Given the description of an element on the screen output the (x, y) to click on. 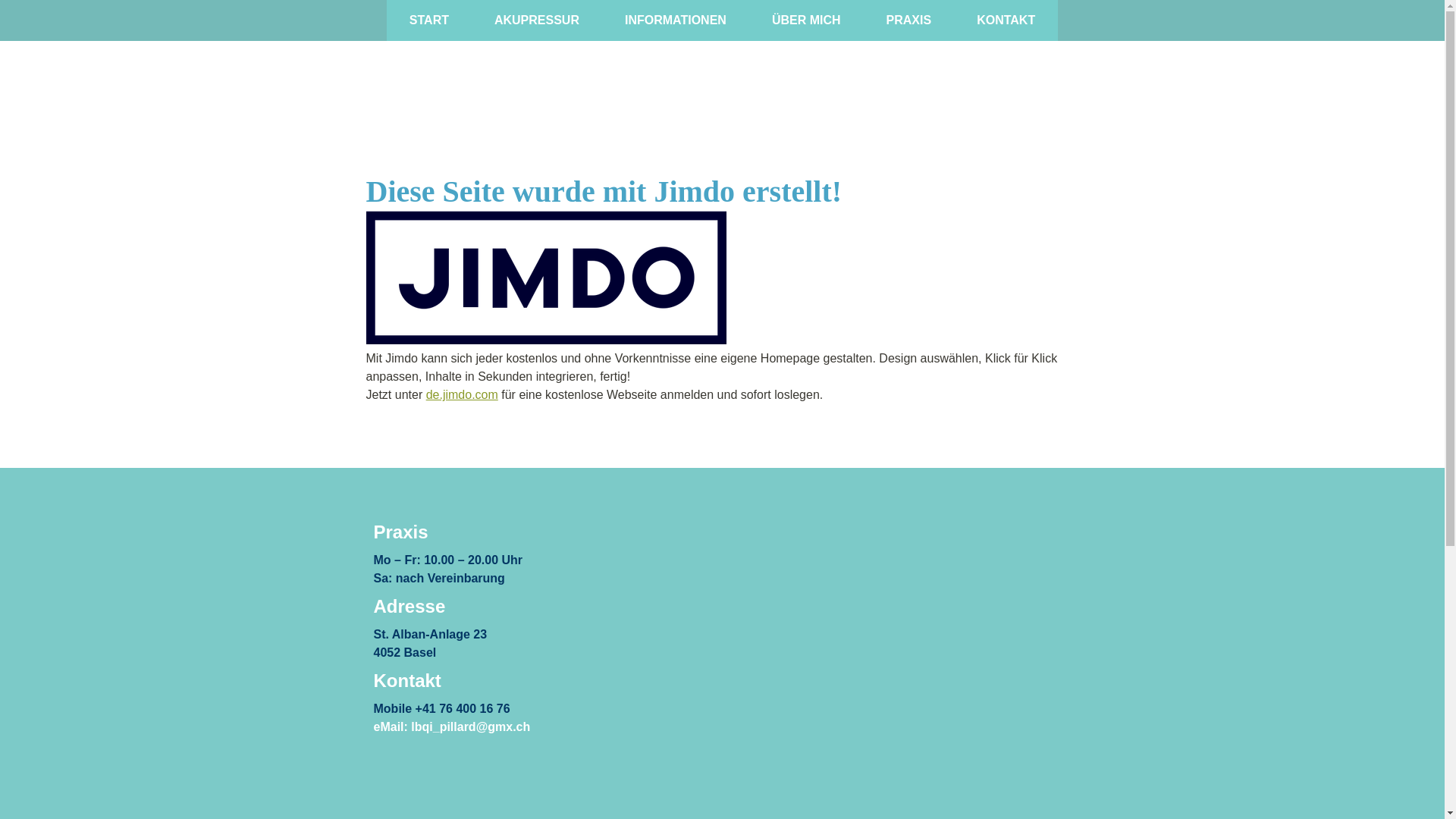
START Element type: text (428, 20)
AKUPRESSUR Element type: text (536, 20)
KONTAKT Element type: text (1005, 20)
PRAXIS Element type: text (908, 20)
de.jimdo.com Element type: text (462, 394)
INFORMATIONEN Element type: text (675, 20)
Jimdo Element type: hover (545, 277)
